Given the description of an element on the screen output the (x, y) to click on. 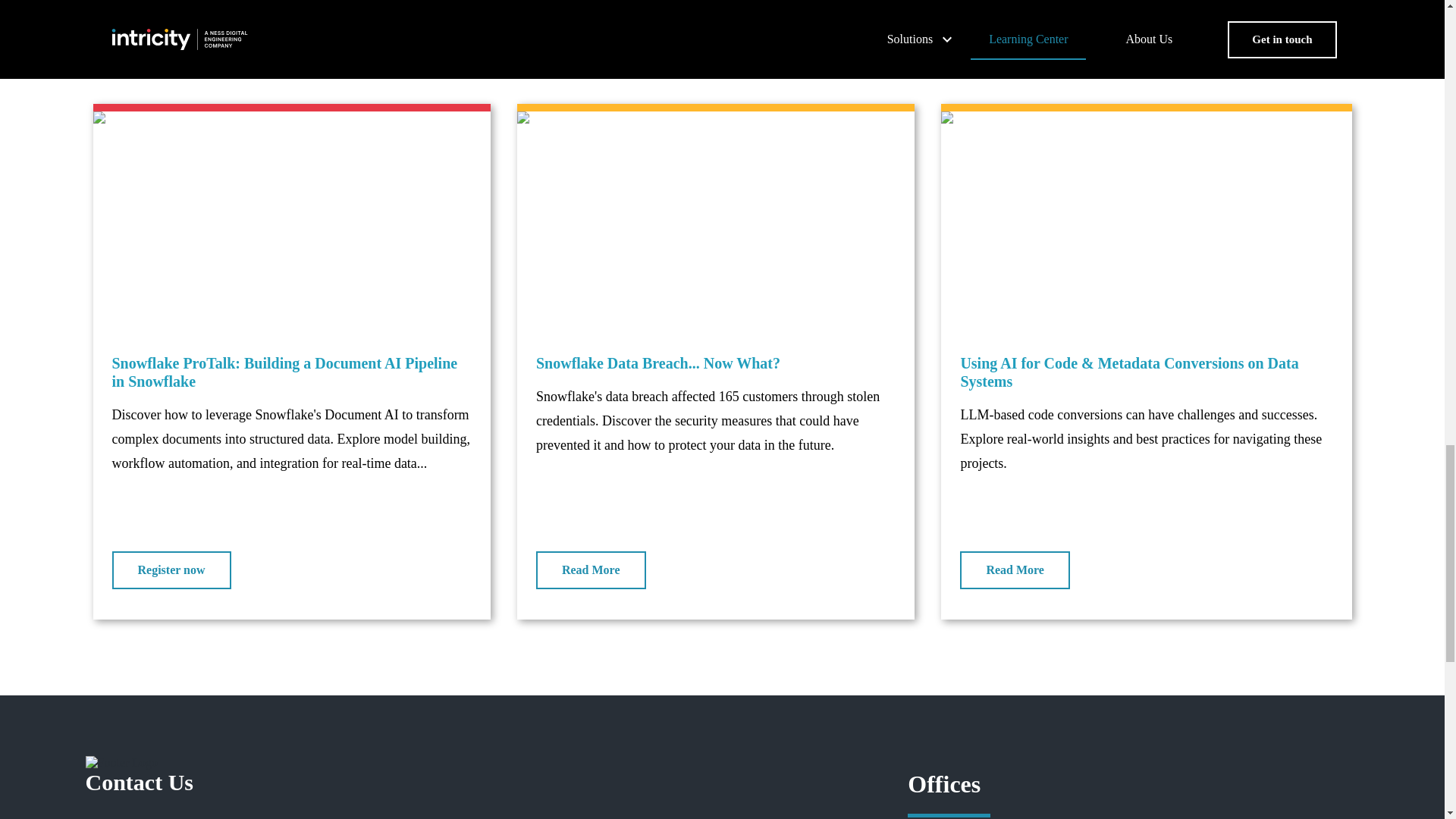
Register now (171, 569)
Read More (1014, 569)
Read More (590, 569)
Snowflake Data Breach... Now What? (715, 362)
